Given the description of an element on the screen output the (x, y) to click on. 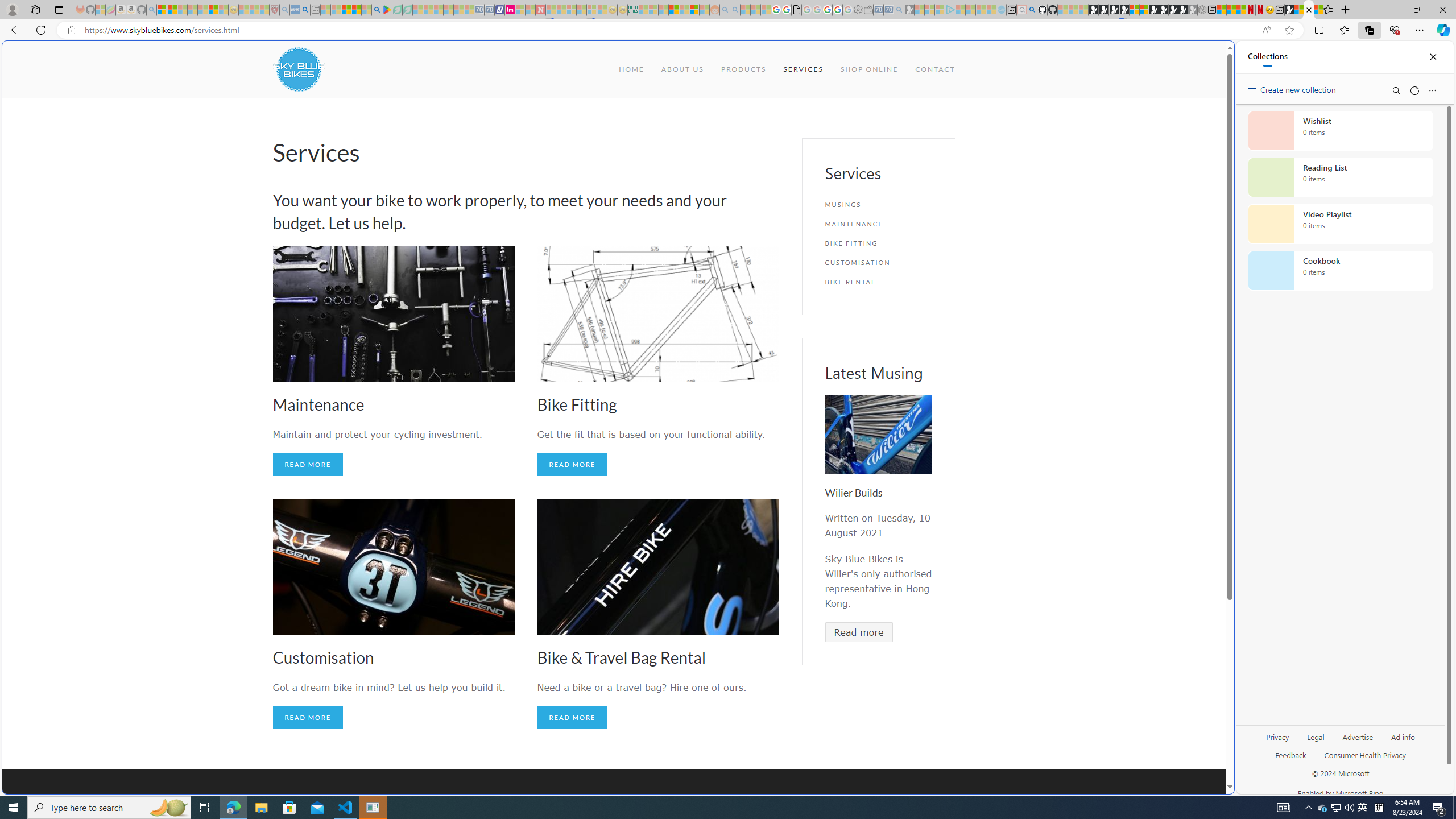
Jobs - lastminute.com Investor Portal (509, 9)
BIKE FITTING (878, 243)
Read more (858, 632)
SERVICES (802, 68)
